Given the description of an element on the screen output the (x, y) to click on. 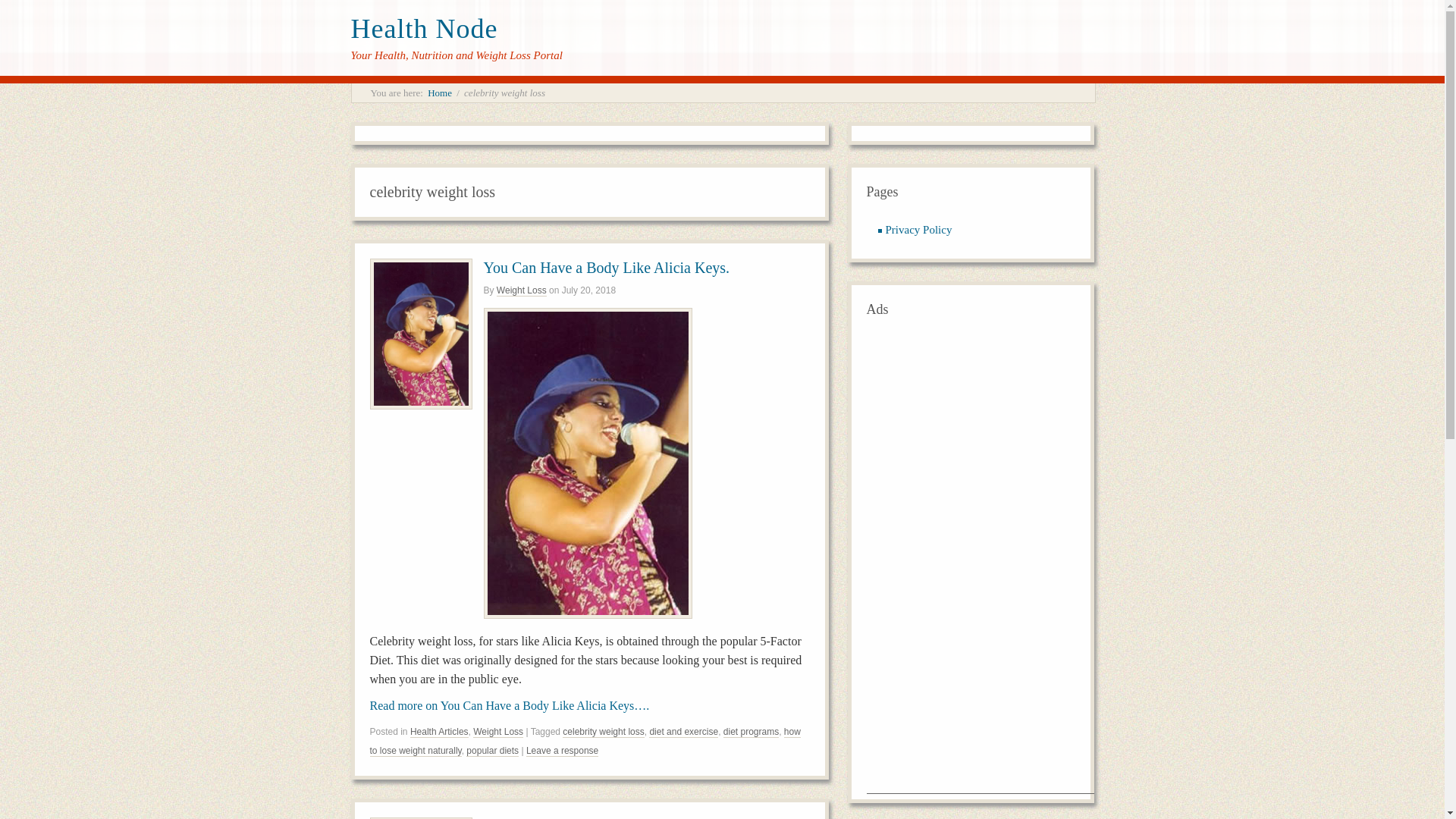
Friday, July 20th, 2018, 4:29 am (588, 290)
Health Articles (439, 731)
Privacy Policy (918, 229)
Leave a response (561, 750)
Weight Loss (521, 290)
how to lose weight naturally (584, 741)
You Can Have a Body Like Alicia Keys. (606, 267)
Comment on You Can Have a Body Like Alicia Keys. (561, 750)
Weight Loss (497, 731)
